Given the description of an element on the screen output the (x, y) to click on. 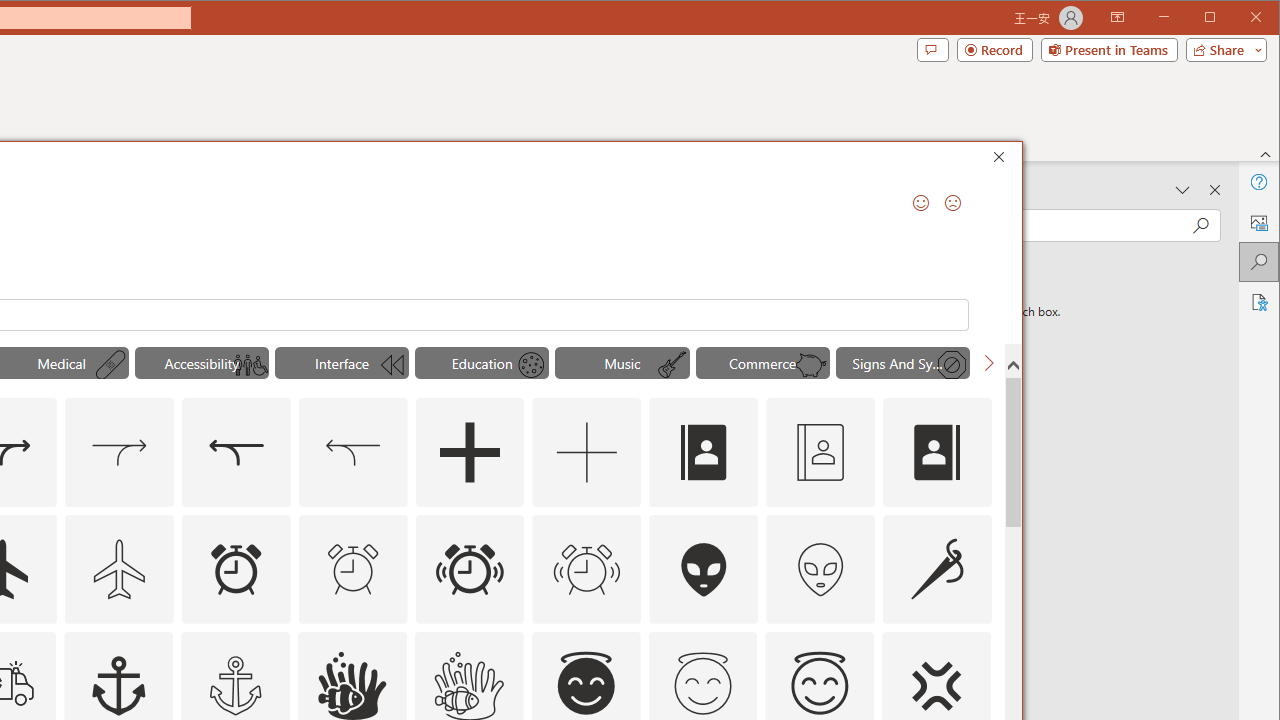
AutomationID: Icons_PiggyBank_M (811, 365)
AutomationID: Icons_Mercury_M (531, 365)
AutomationID: _134_Angel_Face_A (586, 683)
"Music" Icons. (622, 362)
AutomationID: Icons_AlarmRinging_M (586, 568)
AutomationID: Icons_AddressBook_RTL (938, 452)
AutomationID: Icons_AlarmRinging (469, 568)
AutomationID: Icons_AlterationsTailoring (938, 568)
Alt Text (1258, 221)
